Given the description of an element on the screen output the (x, y) to click on. 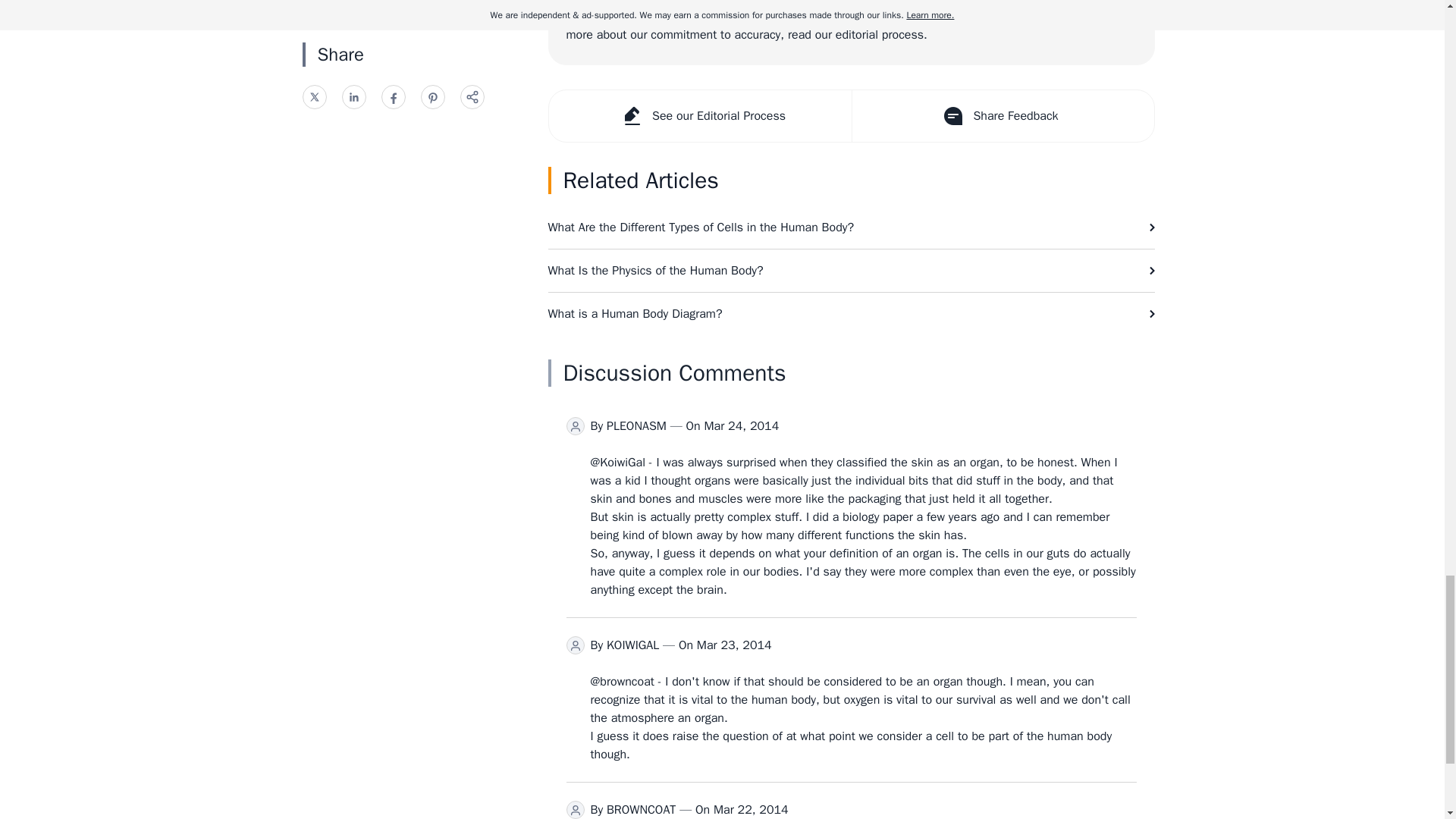
See our Editorial Process (699, 115)
Share Feedback (1001, 115)
What Are the Different Types of Cells in the Human Body? (850, 227)
